Given the description of an element on the screen output the (x, y) to click on. 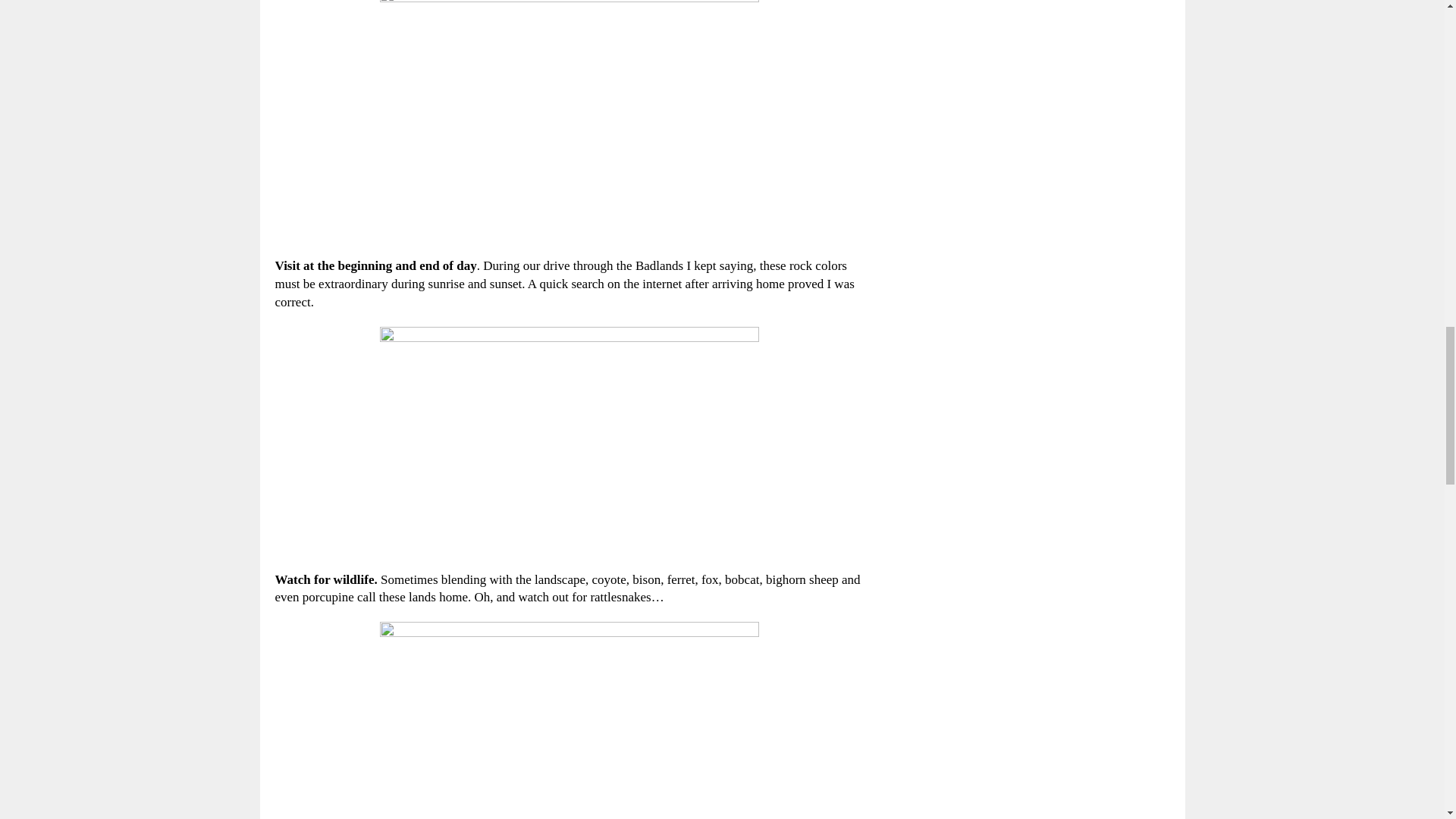
Rattlesnakes (569, 720)
Badlands National Park (569, 441)
Badlands (569, 120)
